Given the description of an element on the screen output the (x, y) to click on. 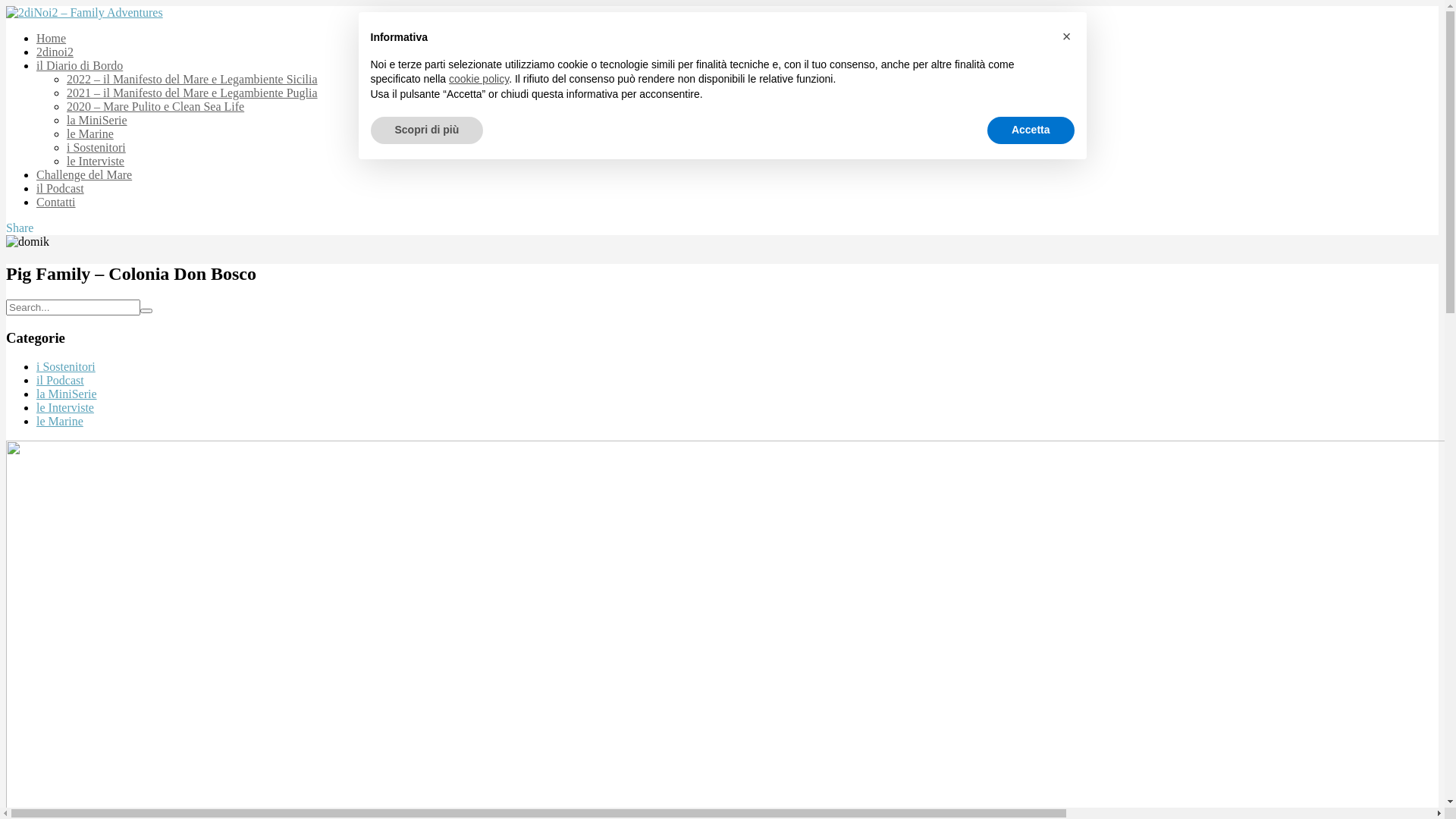
i Sostenitori Element type: text (65, 366)
Contatti Element type: text (55, 201)
2dinoi2 Element type: text (54, 51)
Home Element type: text (50, 37)
il Podcast Element type: text (60, 379)
Share Element type: text (19, 227)
il Podcast Element type: text (60, 188)
la MiniSerie Element type: text (96, 119)
Accetta Element type: text (1030, 130)
la MiniSerie Element type: text (66, 393)
Challenge del Mare Element type: text (83, 174)
il Diario di Bordo Element type: text (79, 65)
le Interviste Element type: text (95, 160)
cookie policy Element type: text (478, 78)
le Marine Element type: text (59, 420)
le Marine Element type: text (89, 133)
le Interviste Element type: text (65, 407)
i Sostenitori Element type: text (95, 147)
